Given the description of an element on the screen output the (x, y) to click on. 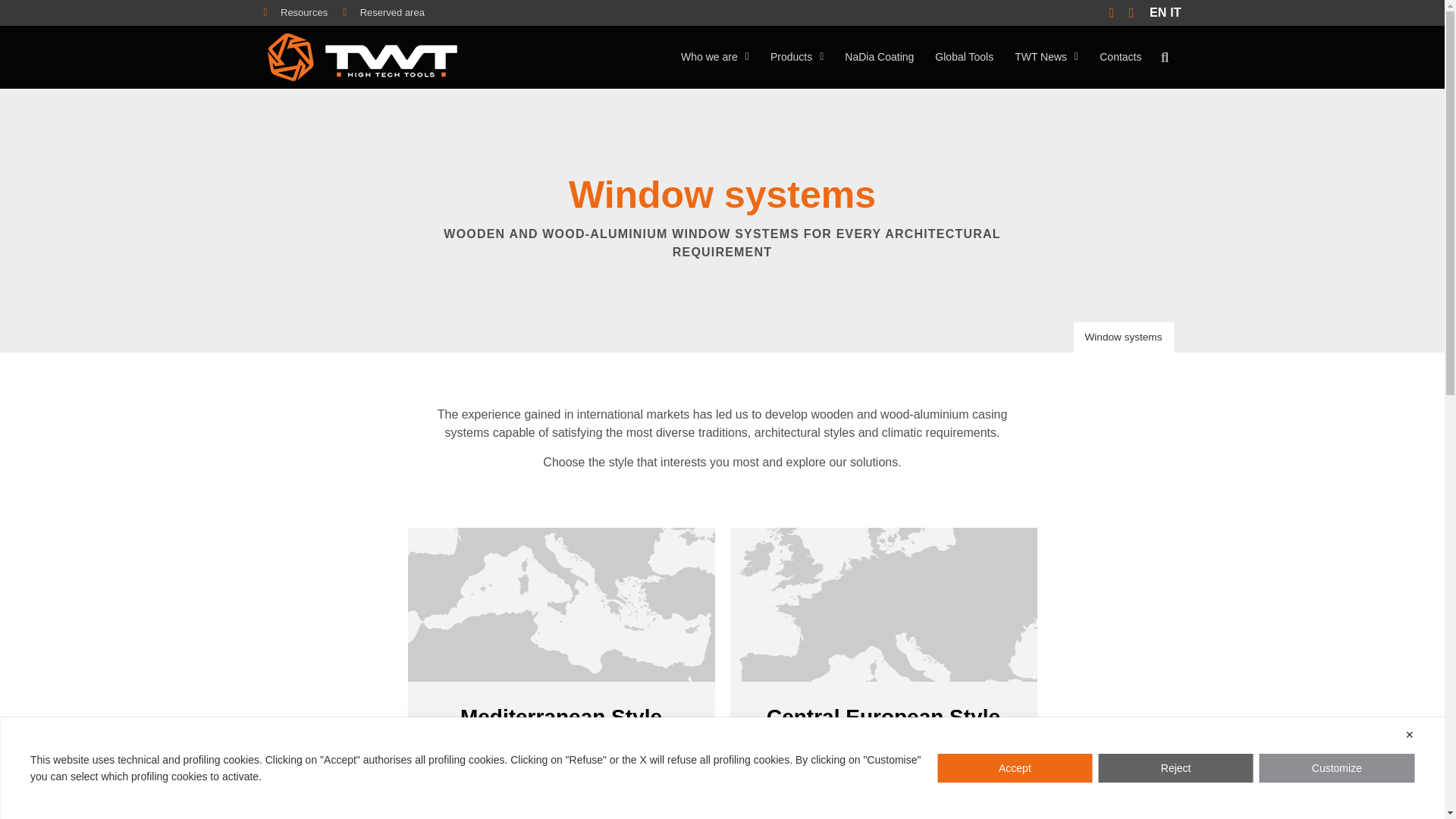
Who we are (714, 56)
EN (1158, 11)
Sistemi-di-infissi-centro-europa-bg-1 (882, 604)
Global Tools (964, 56)
EN (1158, 11)
Sistemi-di-infissi-mediterraneo-bg-1 (560, 604)
Contacts (1120, 56)
Reserved area (383, 12)
Products (797, 56)
TWT News (1046, 56)
